Given the description of an element on the screen output the (x, y) to click on. 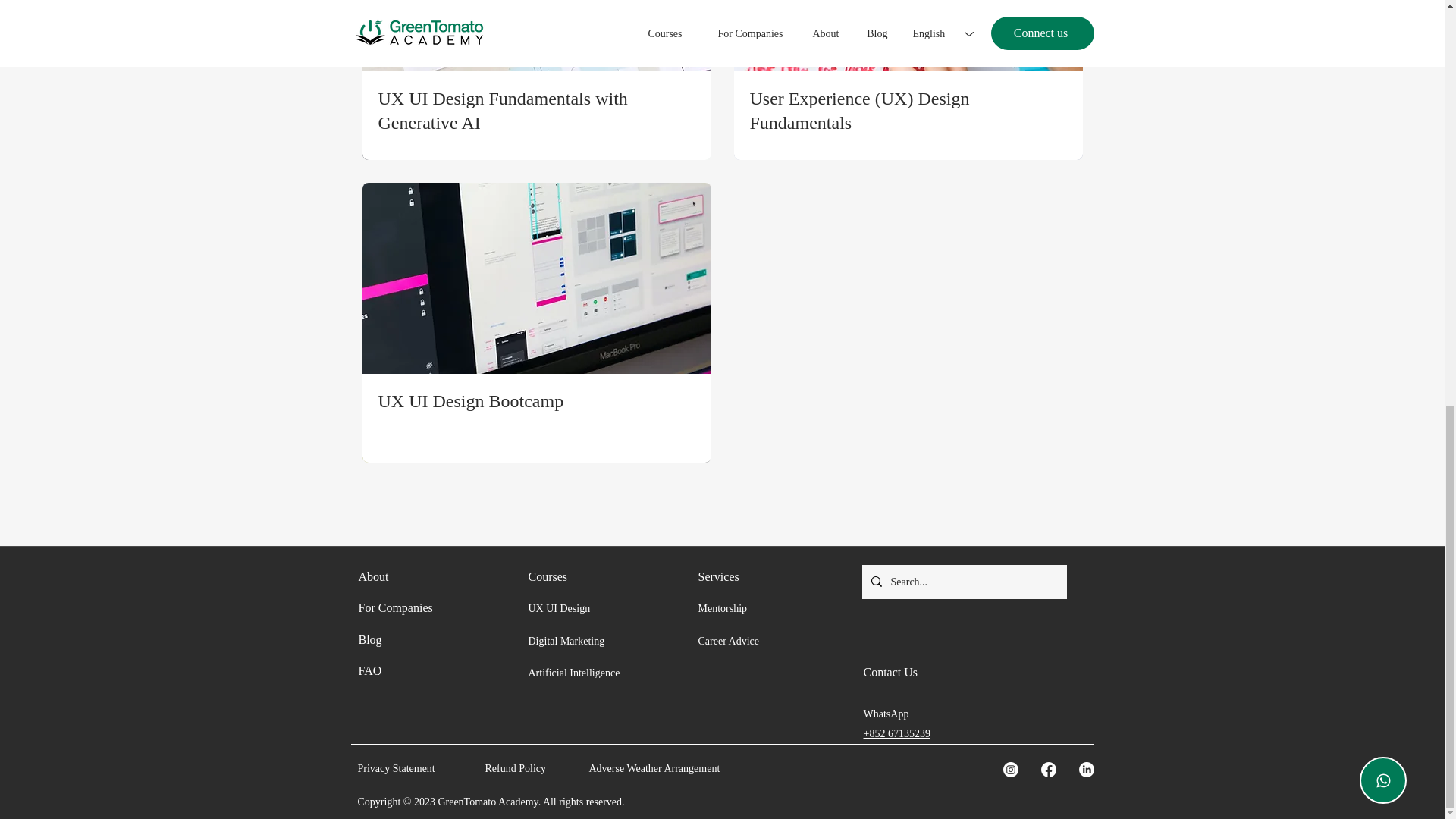
Mentorship (721, 607)
Courses (547, 576)
Career Advice (727, 640)
FAQ (369, 670)
For Companies (395, 607)
Artificial Intelligence (573, 671)
WhatsApp (885, 713)
Contact Us (890, 670)
About (373, 576)
UX UI Design (558, 607)
